Given the description of an element on the screen output the (x, y) to click on. 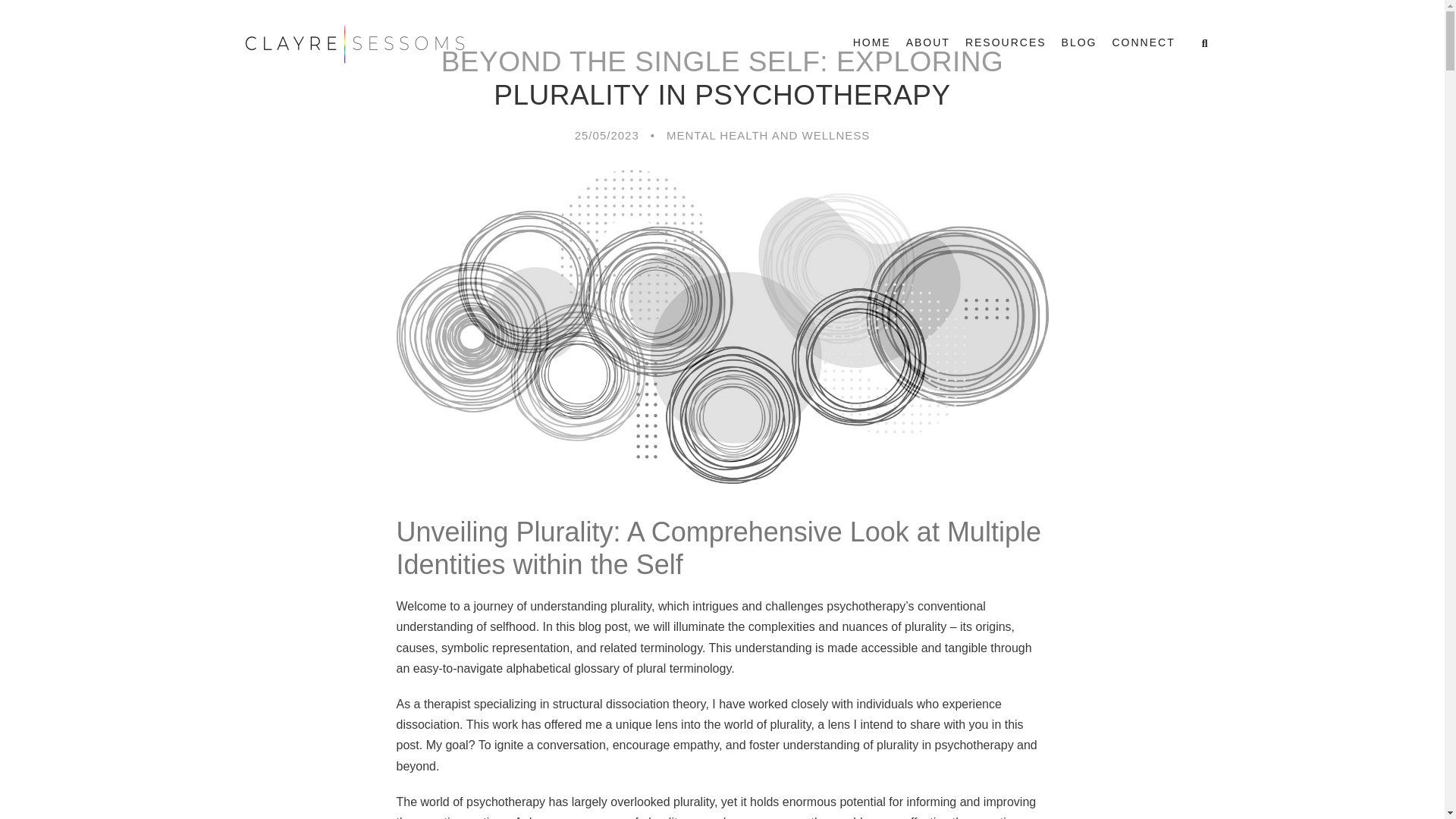
ABOUT (927, 48)
HOME (872, 48)
CONNECT (1143, 48)
RESOURCES (1005, 48)
BLOG (1079, 48)
MENTAL HEALTH AND WELLNESS (767, 134)
Clayre Sessoms Logo (353, 43)
